Given the description of an element on the screen output the (x, y) to click on. 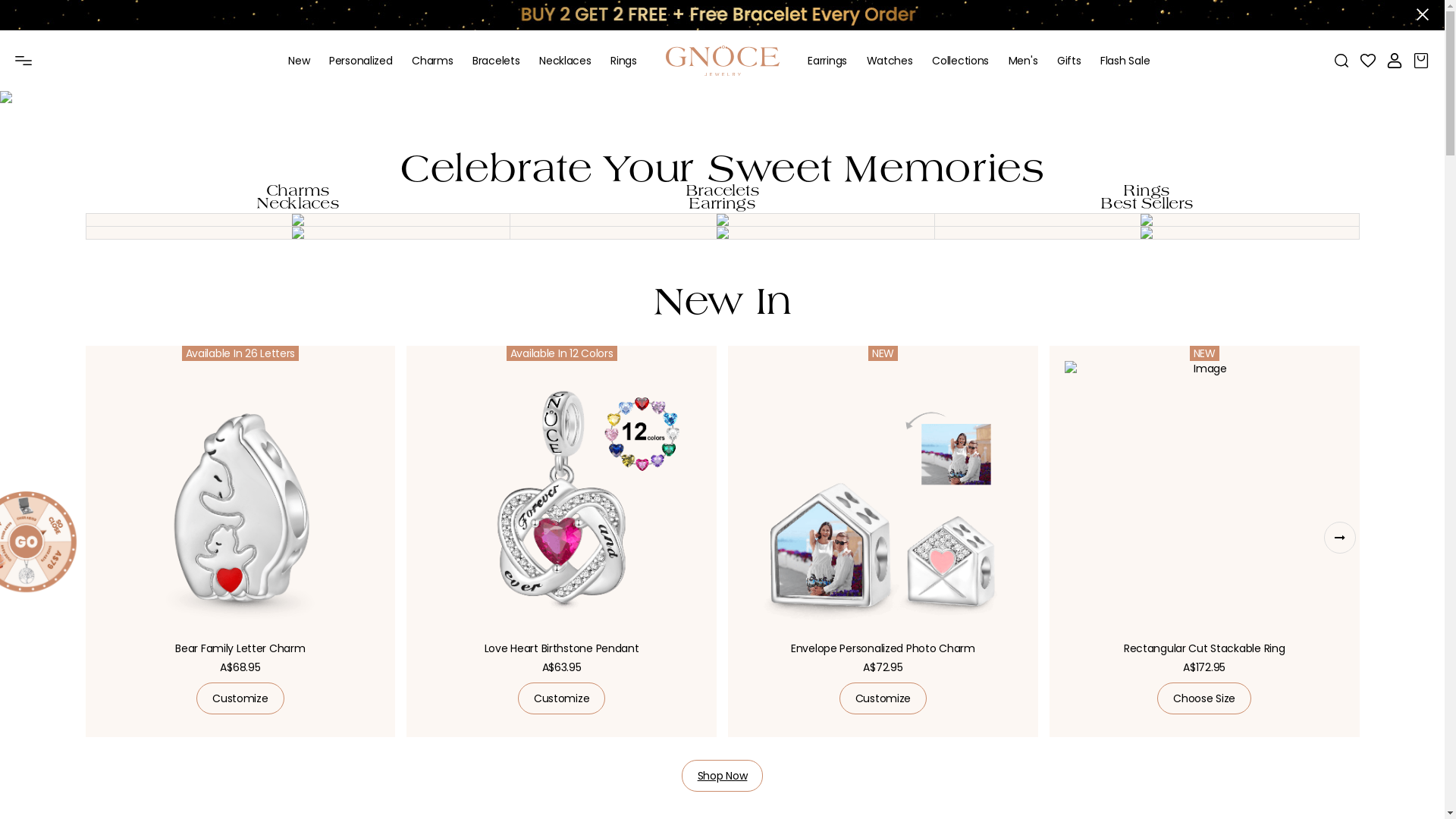
Rectangular Cut Stackable Ring Element type: text (1204, 507)
Charms Element type: text (298, 219)
Watches Element type: text (889, 60)
Personalized Element type: text (360, 60)
Customize Element type: text (239, 698)
Customize Element type: text (882, 698)
Bracelets Element type: text (722, 219)
Collections Element type: text (959, 60)
Charms Element type: text (431, 60)
Necklaces Element type: text (298, 232)
New Element type: text (298, 60)
Flash Sale Element type: text (1124, 60)
Choose Size Element type: text (1204, 698)
Best Sellers Element type: text (1147, 232)
Gifts Element type: text (1069, 60)
Bracelets Element type: text (495, 60)
Rings Element type: text (1147, 219)
Earrings Element type: text (722, 232)
Bear Family Letter Charm Element type: text (239, 507)
Men's Element type: text (1023, 60)
Envelope Personalized Photo Charm Element type: text (883, 507)
Customize Element type: text (561, 698)
Shop Now Element type: text (722, 775)
Earrings Element type: text (827, 60)
Rings Element type: text (623, 60)
Love Heart Birthstone Pendant Element type: text (561, 507)
Necklaces Element type: text (564, 60)
